Given the description of an element on the screen output the (x, y) to click on. 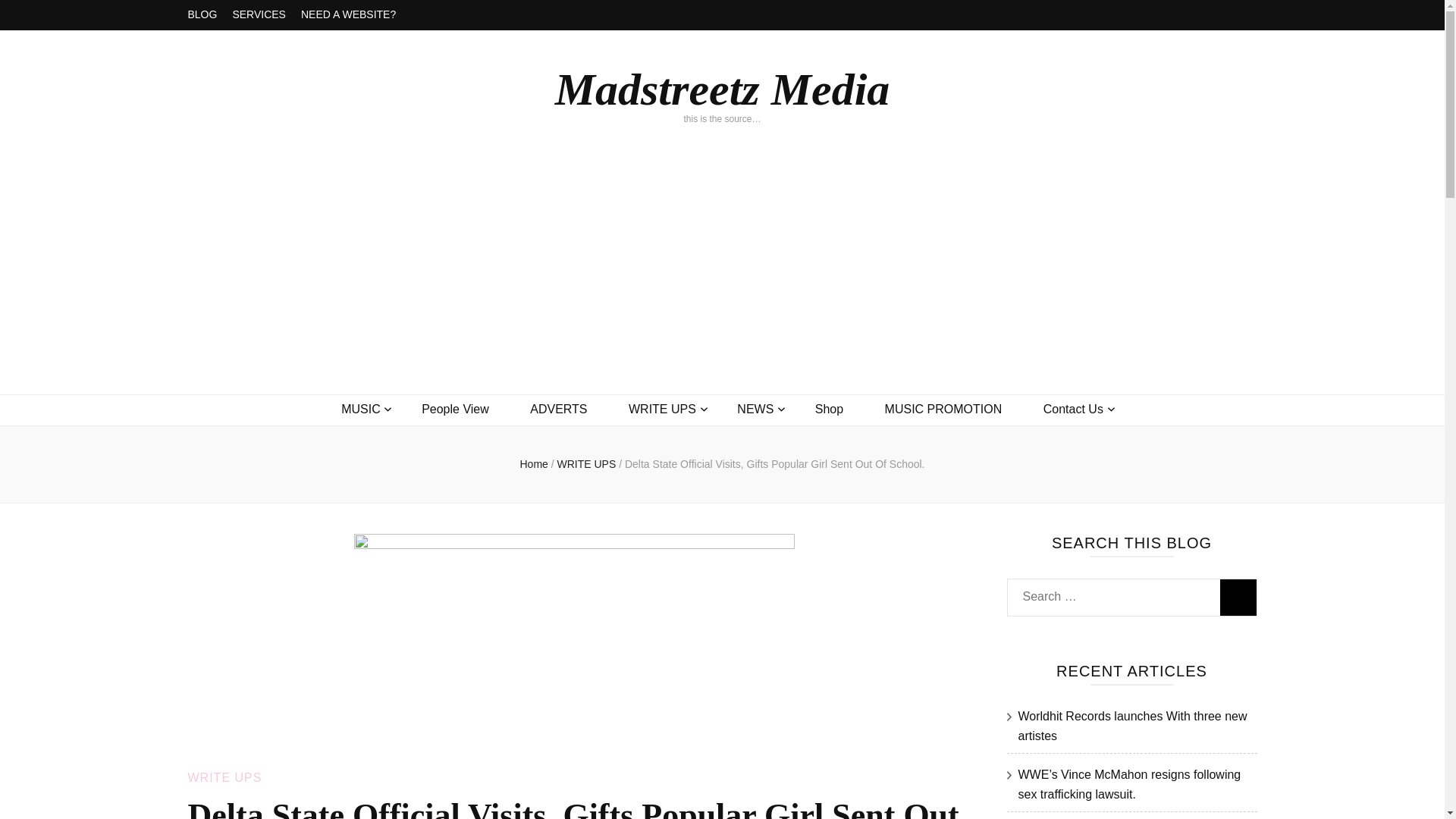
WRITE UPS (224, 777)
BLOG (201, 15)
MUSIC PROMOTION (944, 409)
Home (533, 463)
ADVERTS (557, 409)
WRITE UPS (661, 409)
SERVICES (258, 15)
People View (455, 409)
Search (1237, 597)
Shop (829, 409)
Contact Us (1073, 409)
Search (1237, 597)
Madstreetz Media (721, 89)
MUSIC (360, 409)
